Given the description of an element on the screen output the (x, y) to click on. 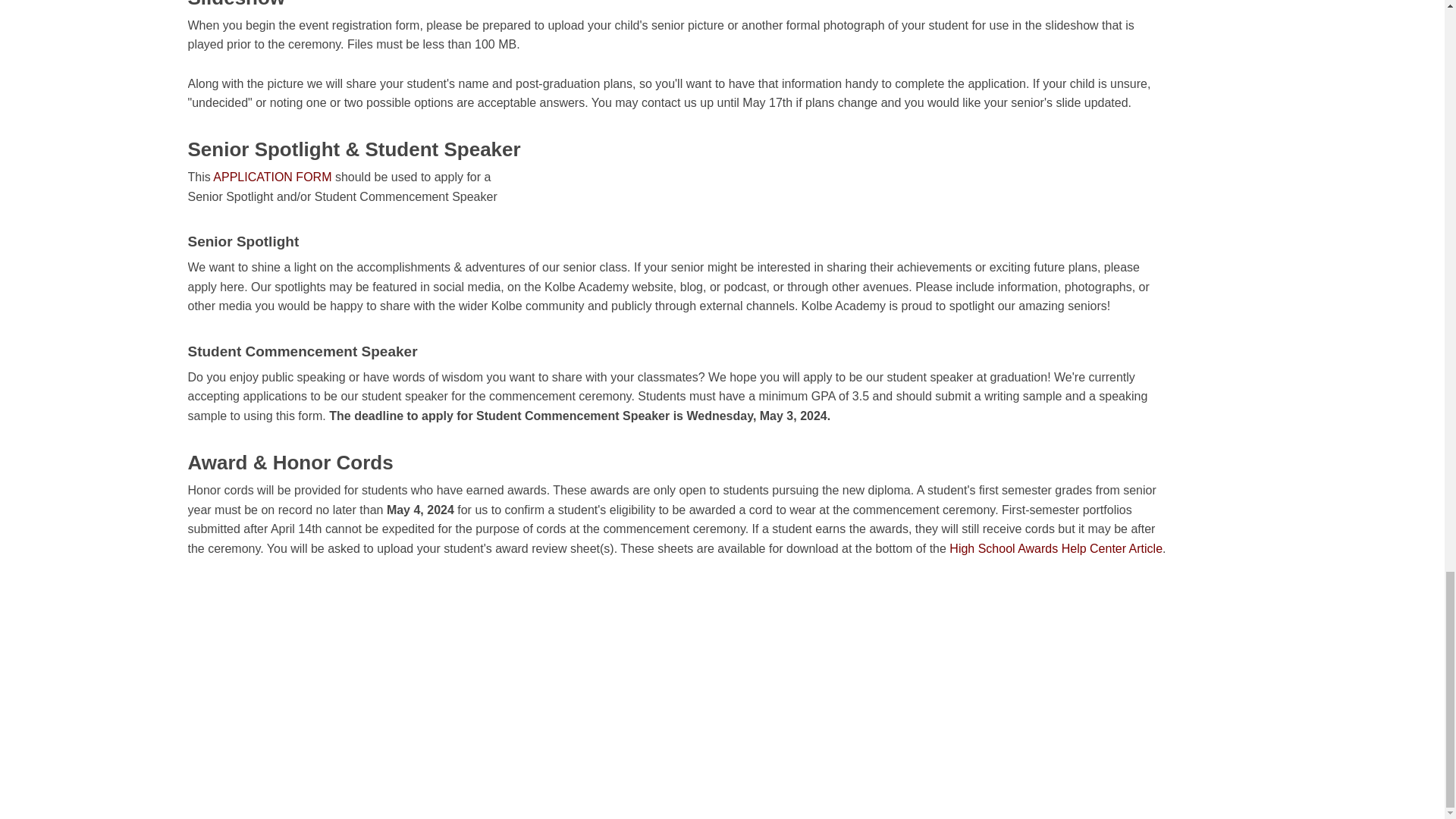
APPLICATION FORM (271, 176)
High School Awards Help Center Article (1055, 548)
